Given the description of an element on the screen output the (x, y) to click on. 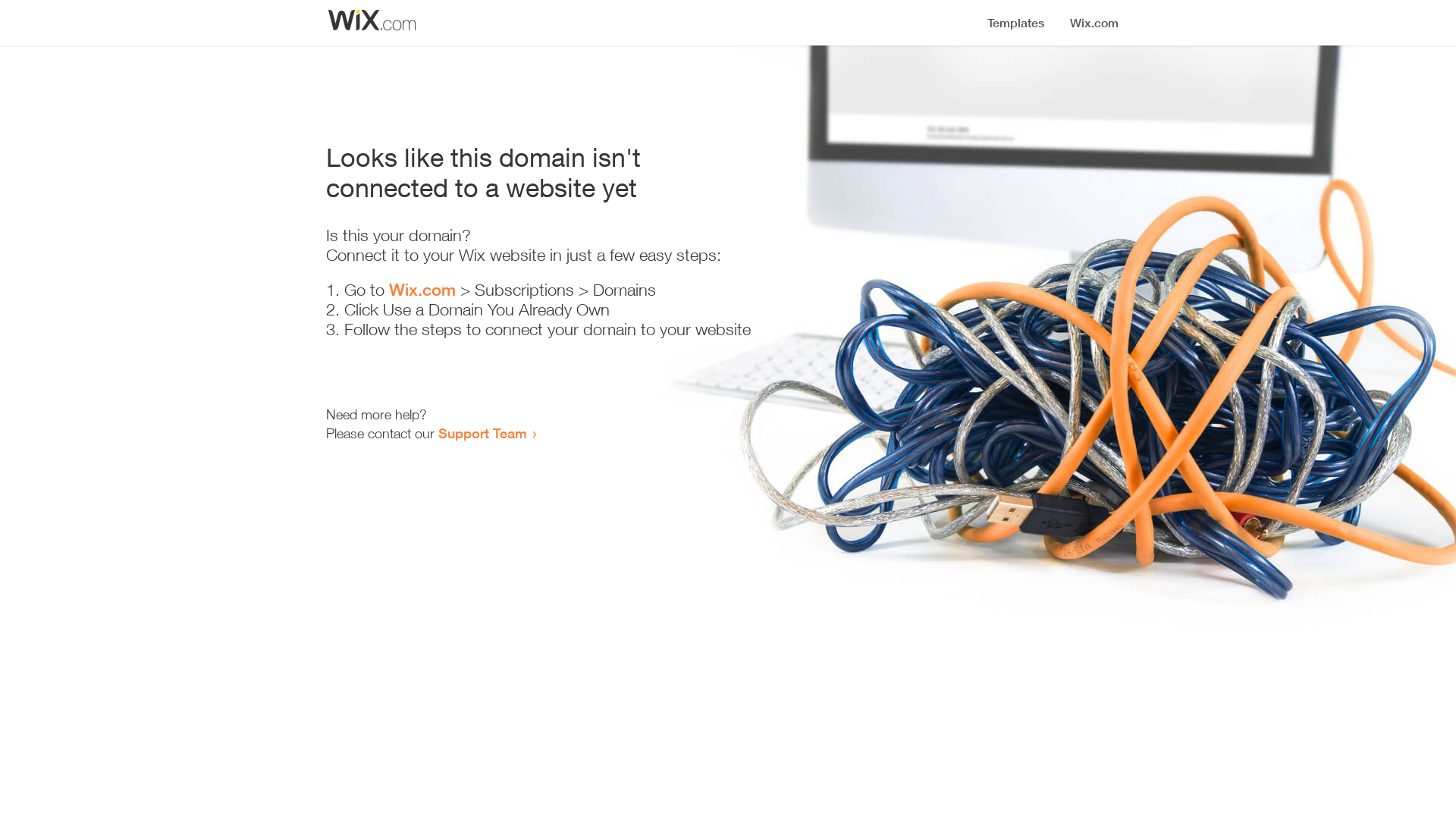
Support Team Element type: text (482, 432)
Wix.com Element type: text (422, 289)
